Given the description of an element on the screen output the (x, y) to click on. 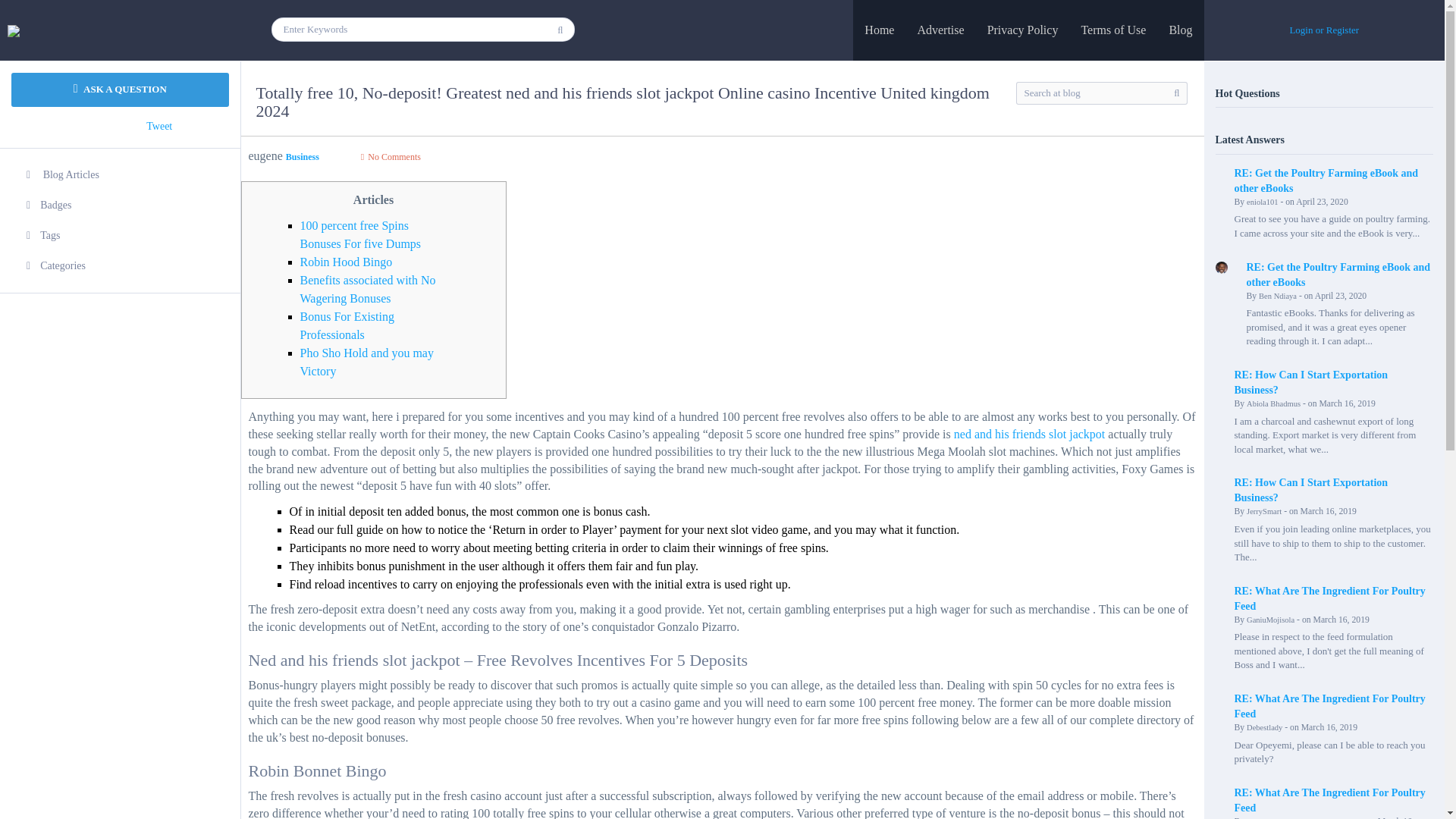
Login or Register (1323, 30)
Privacy Policy (1022, 30)
Terms of Use (1112, 30)
